Given the description of an element on the screen output the (x, y) to click on. 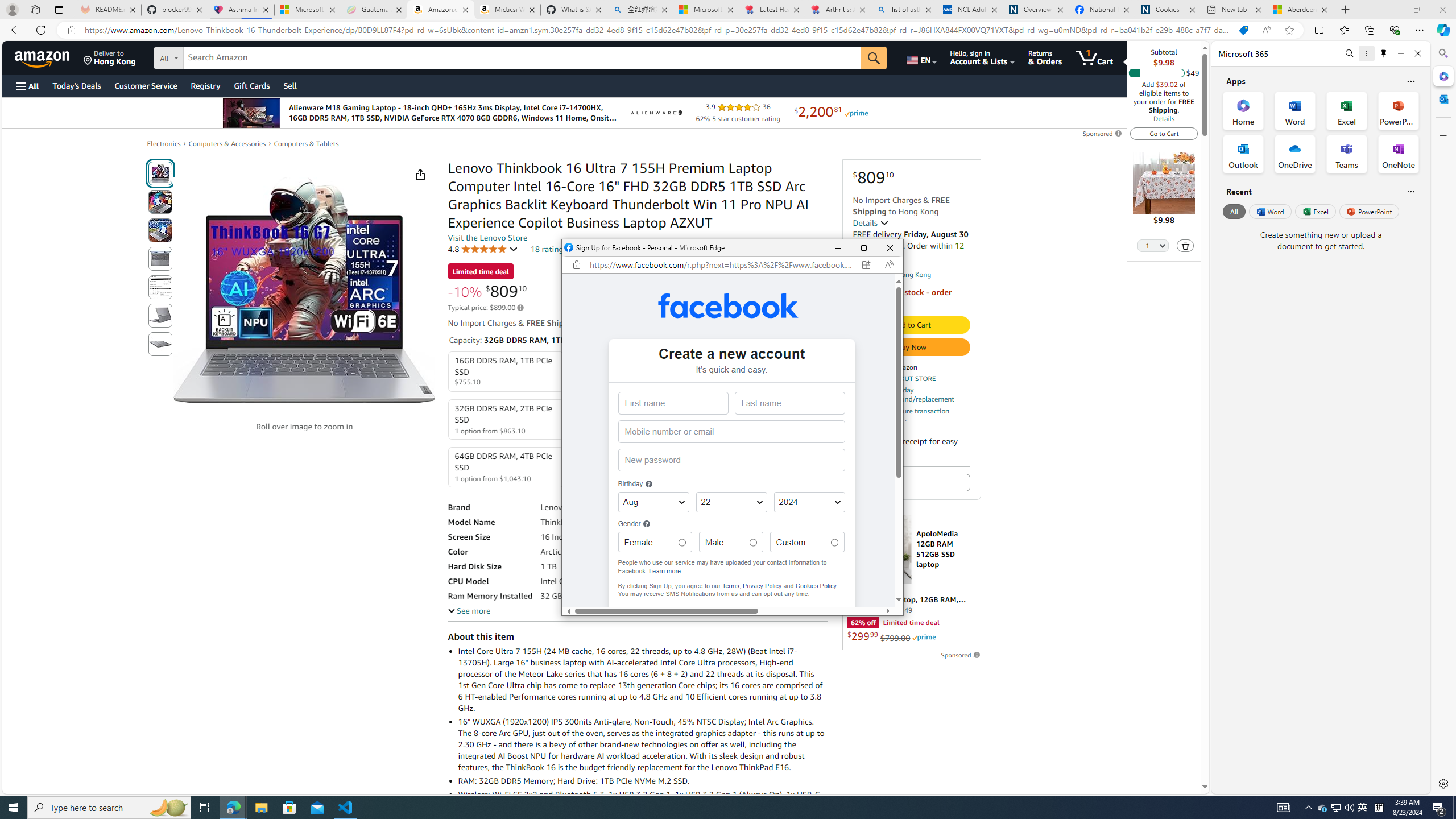
OneNote Office App (1398, 154)
Word (1269, 210)
Share (419, 174)
Details  (871, 222)
You have the best price! (1243, 29)
